Given the description of an element on the screen output the (x, y) to click on. 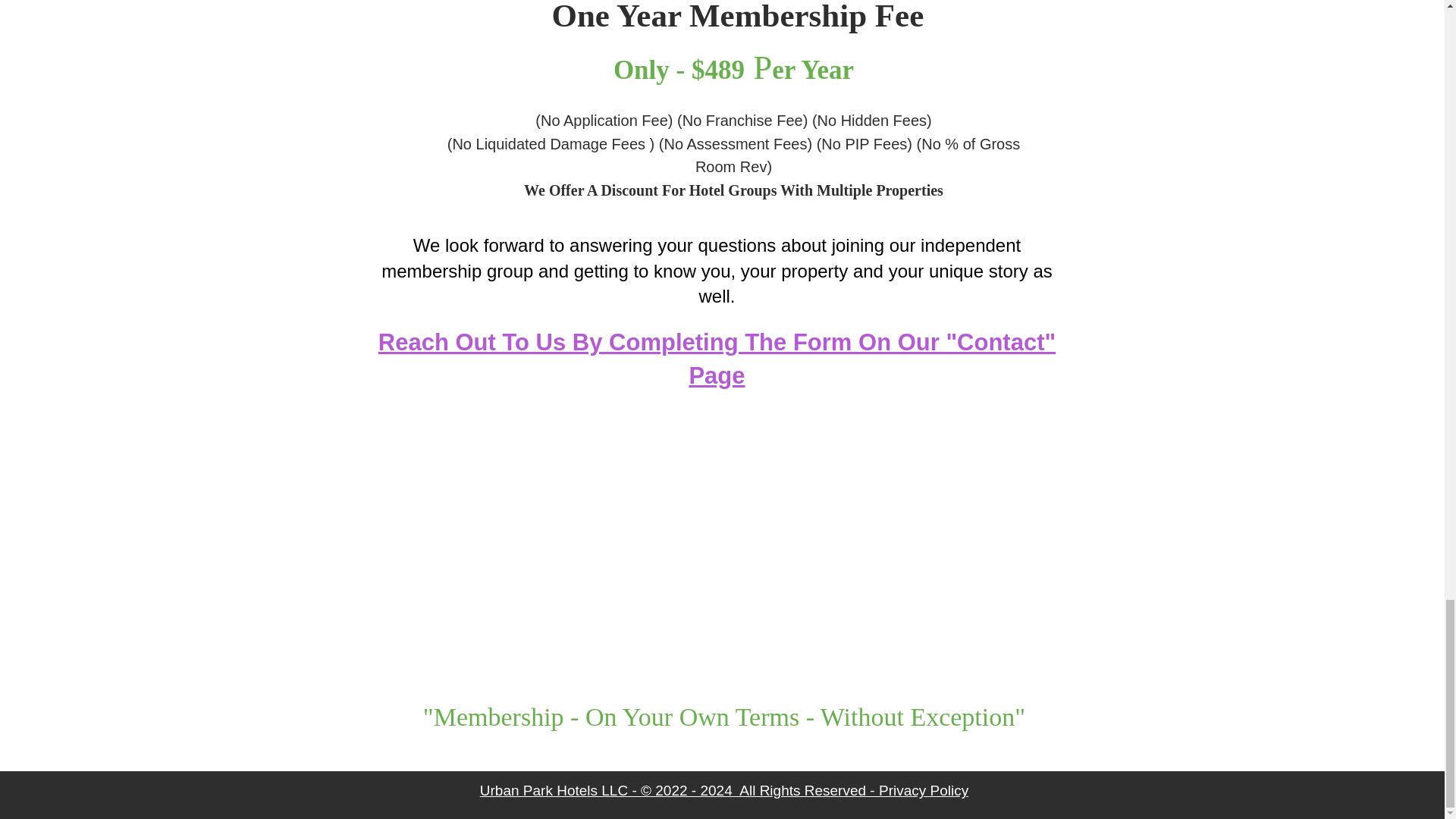
Reach Out To Us By Completing The Form On Our "Contact" Page (716, 358)
